Given the description of an element on the screen output the (x, y) to click on. 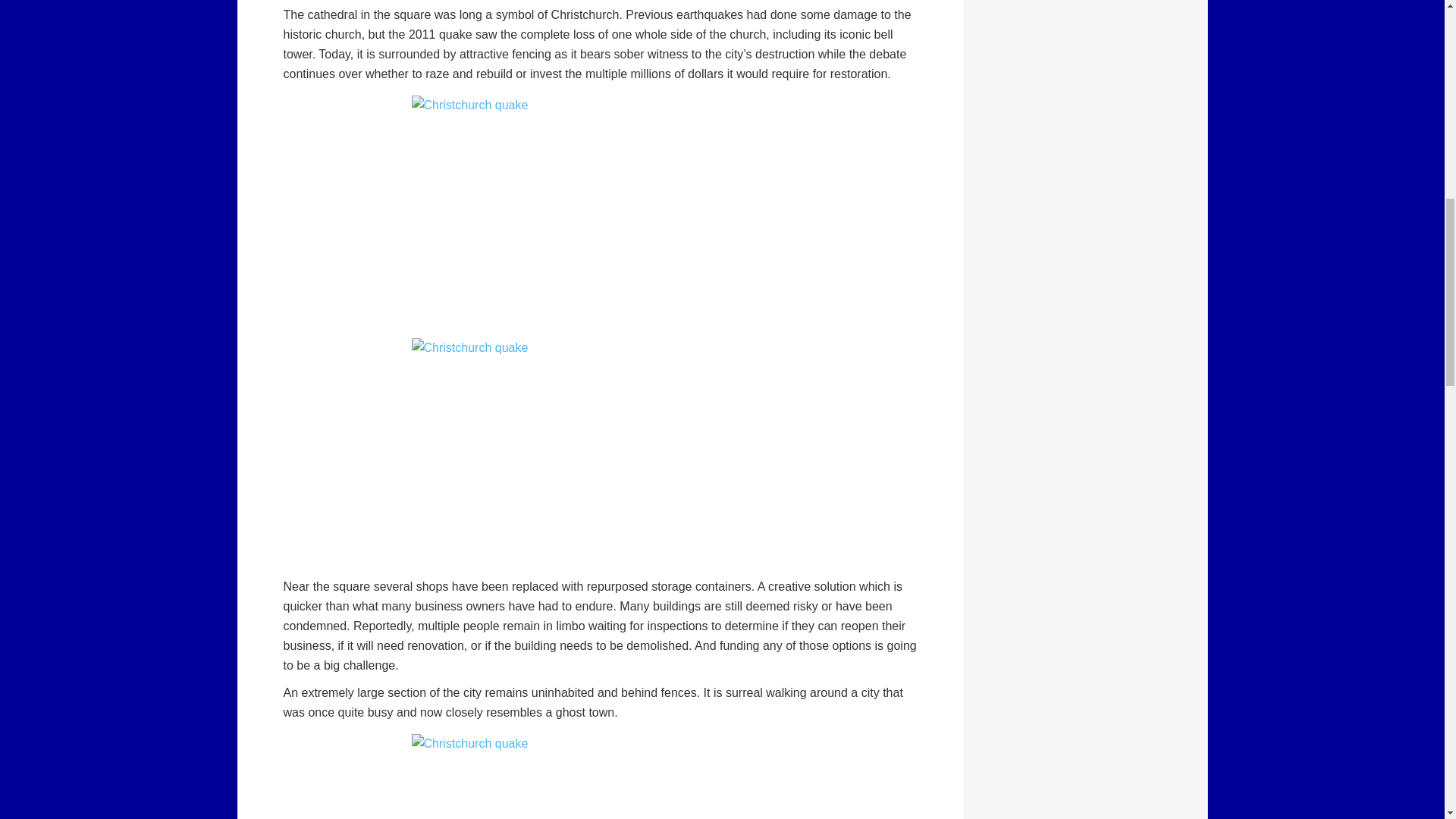
Container city (600, 776)
Cathedral image (600, 451)
Cathedral (600, 208)
